Given the description of an element on the screen output the (x, y) to click on. 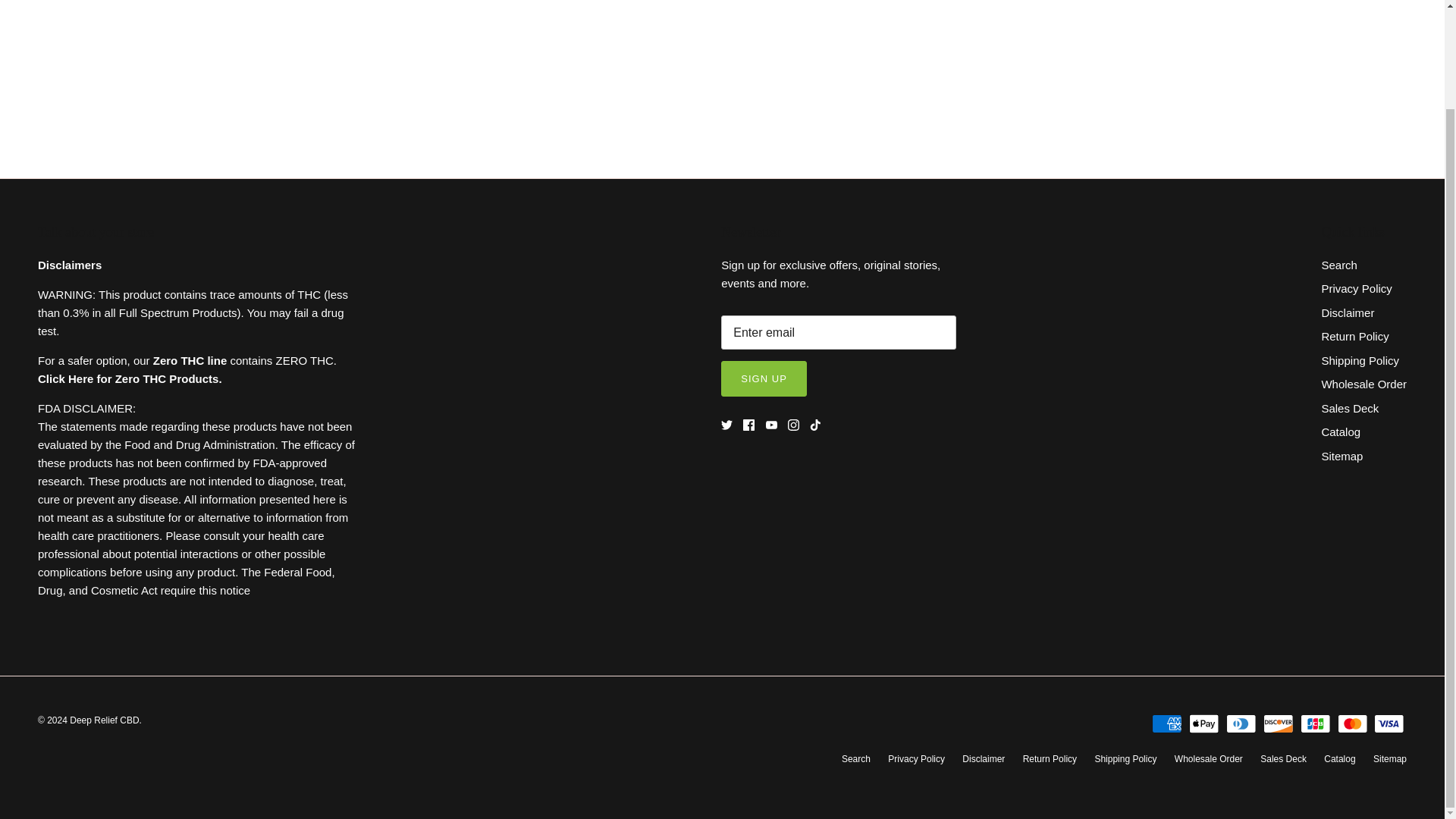
Zero THC (129, 378)
Apple Pay (1203, 723)
Youtube (771, 424)
Mastercard (1352, 723)
American Express (1166, 723)
Zero THC (189, 359)
Facebook (748, 424)
Visa (1388, 723)
Discover (1277, 723)
JCB (1315, 723)
